Given the description of an element on the screen output the (x, y) to click on. 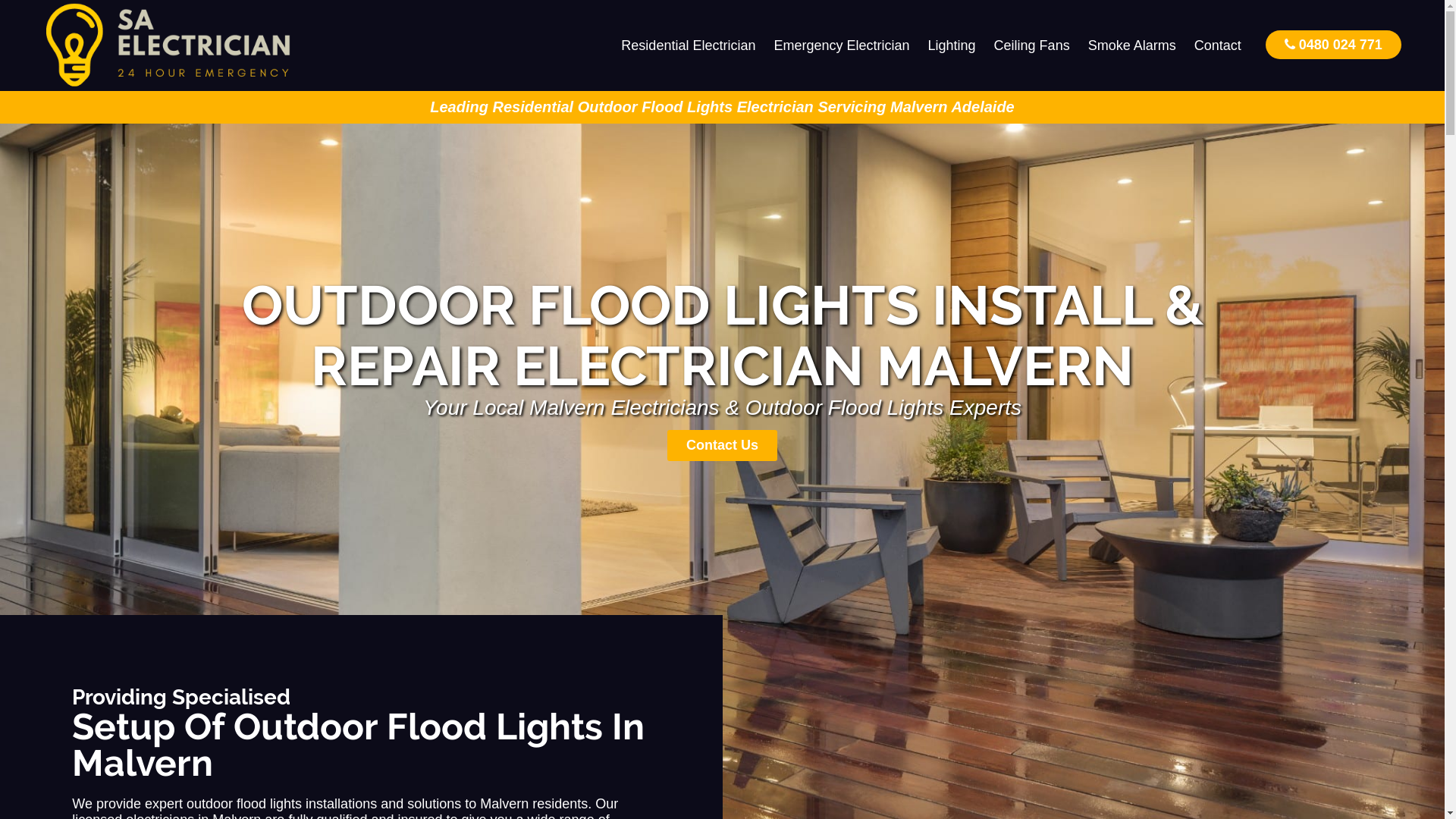
Ceiling Fans Element type: text (1032, 45)
Emergency Electrician Element type: text (841, 45)
Lighting Element type: text (952, 45)
Residential Electrician Element type: text (687, 45)
Contact Us Element type: text (722, 445)
Smoke Alarms Element type: text (1132, 45)
0480 024 771 Element type: text (1333, 44)
Contact Element type: text (1217, 45)
